Given the description of an element on the screen output the (x, y) to click on. 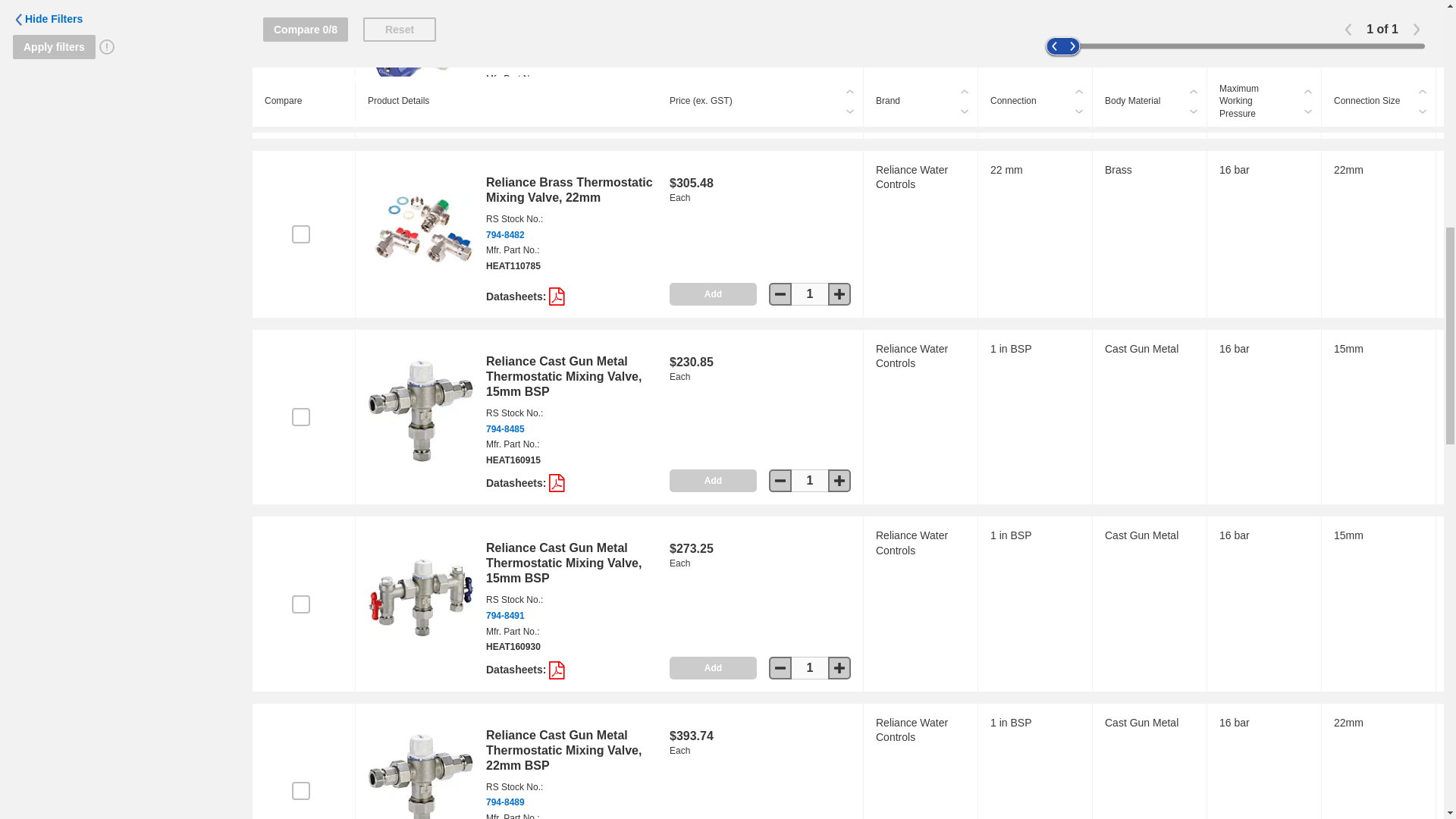
1 (810, 667)
on (299, 416)
1 (810, 293)
1 (810, 115)
on (299, 604)
on (299, 791)
1 (810, 480)
on (299, 51)
on (299, 234)
